Given the description of an element on the screen output the (x, y) to click on. 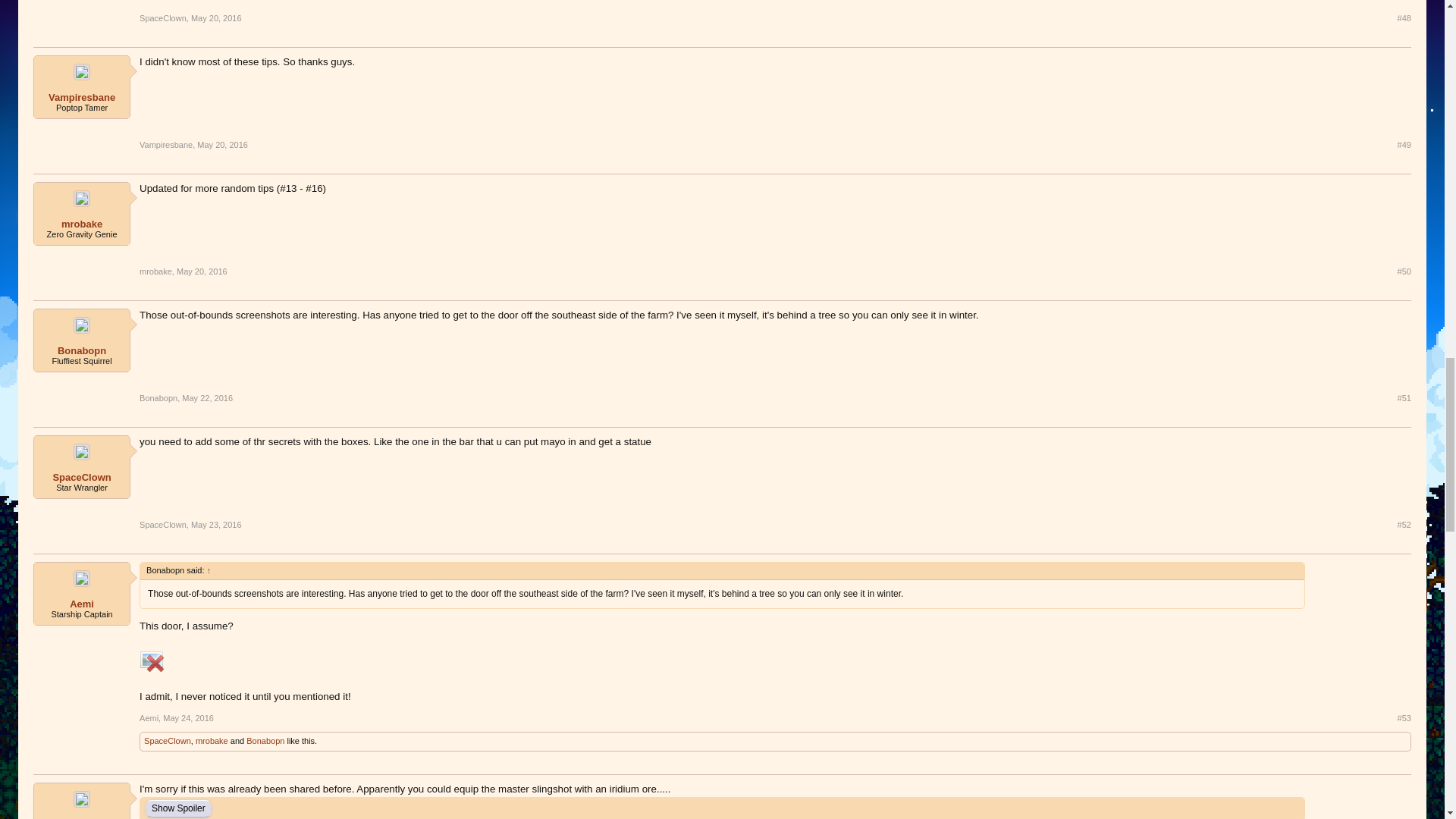
Show Spoiler (179, 808)
